Given the description of an element on the screen output the (x, y) to click on. 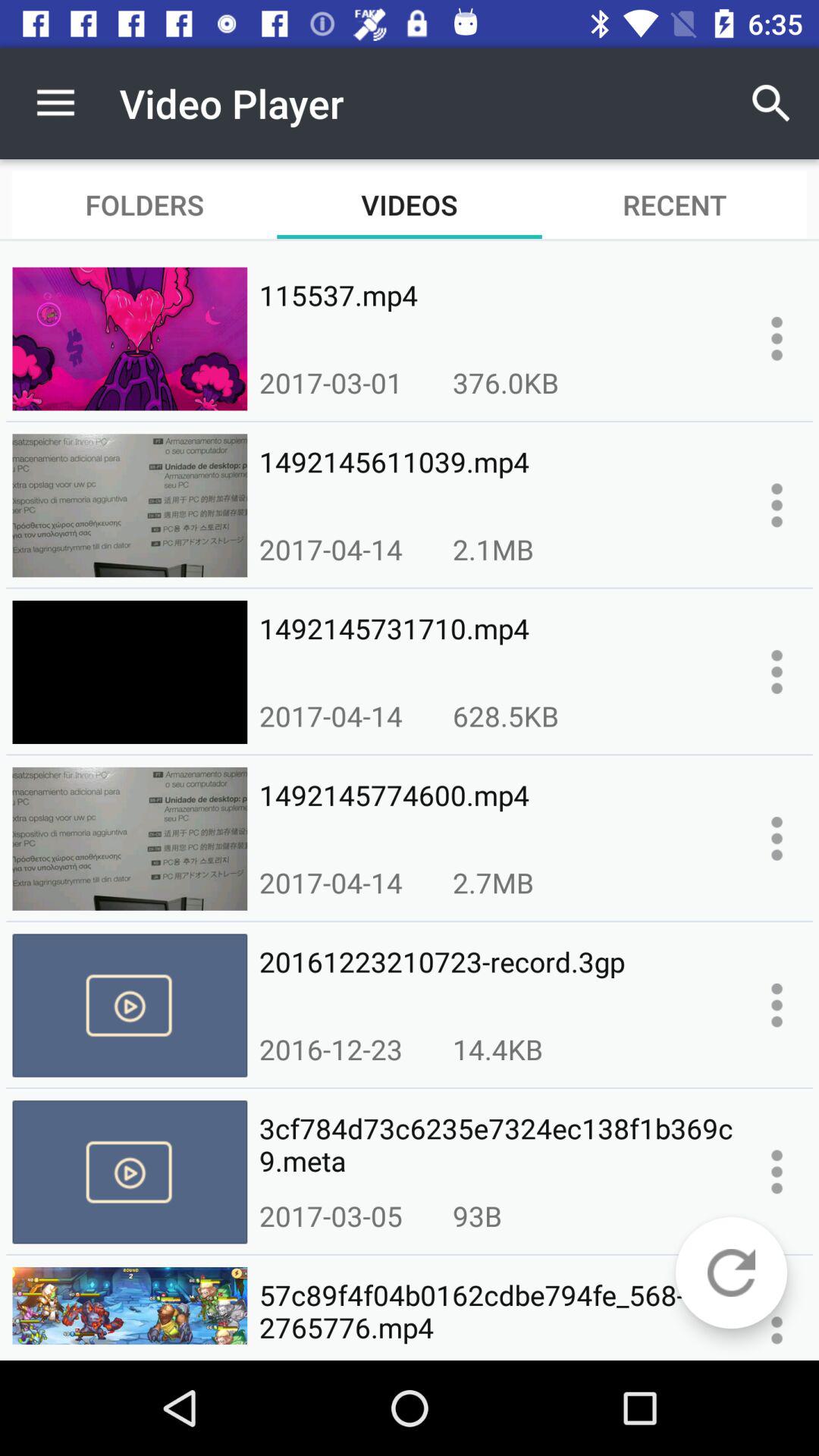
turn on 628.5kb icon (505, 715)
